Given the description of an element on the screen output the (x, y) to click on. 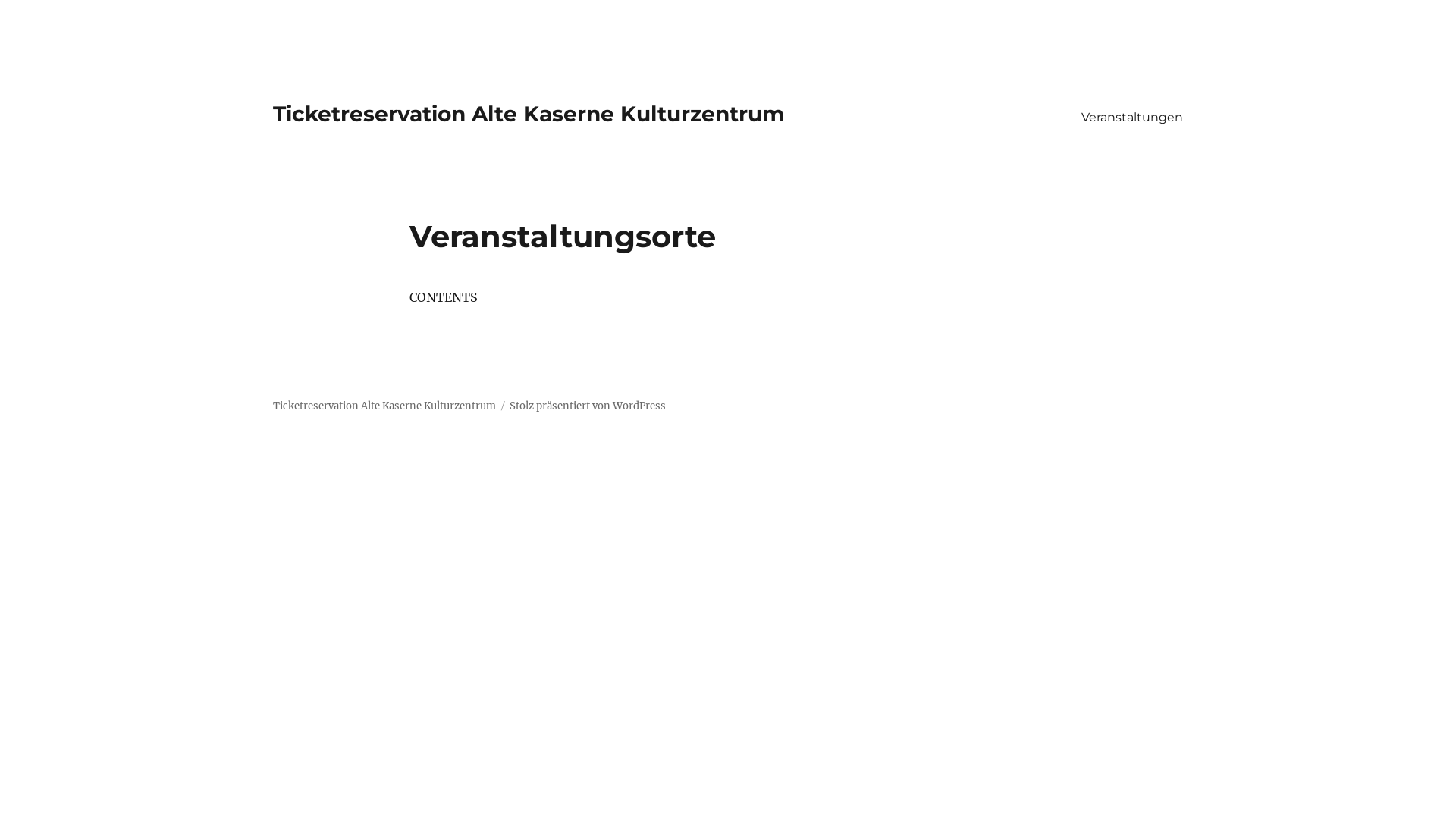
Veranstaltungen Element type: text (1131, 116)
Ticketreservation Alte Kaserne Kulturzentrum Element type: text (528, 113)
Ticketreservation Alte Kaserne Kulturzentrum Element type: text (384, 405)
